Given the description of an element on the screen output the (x, y) to click on. 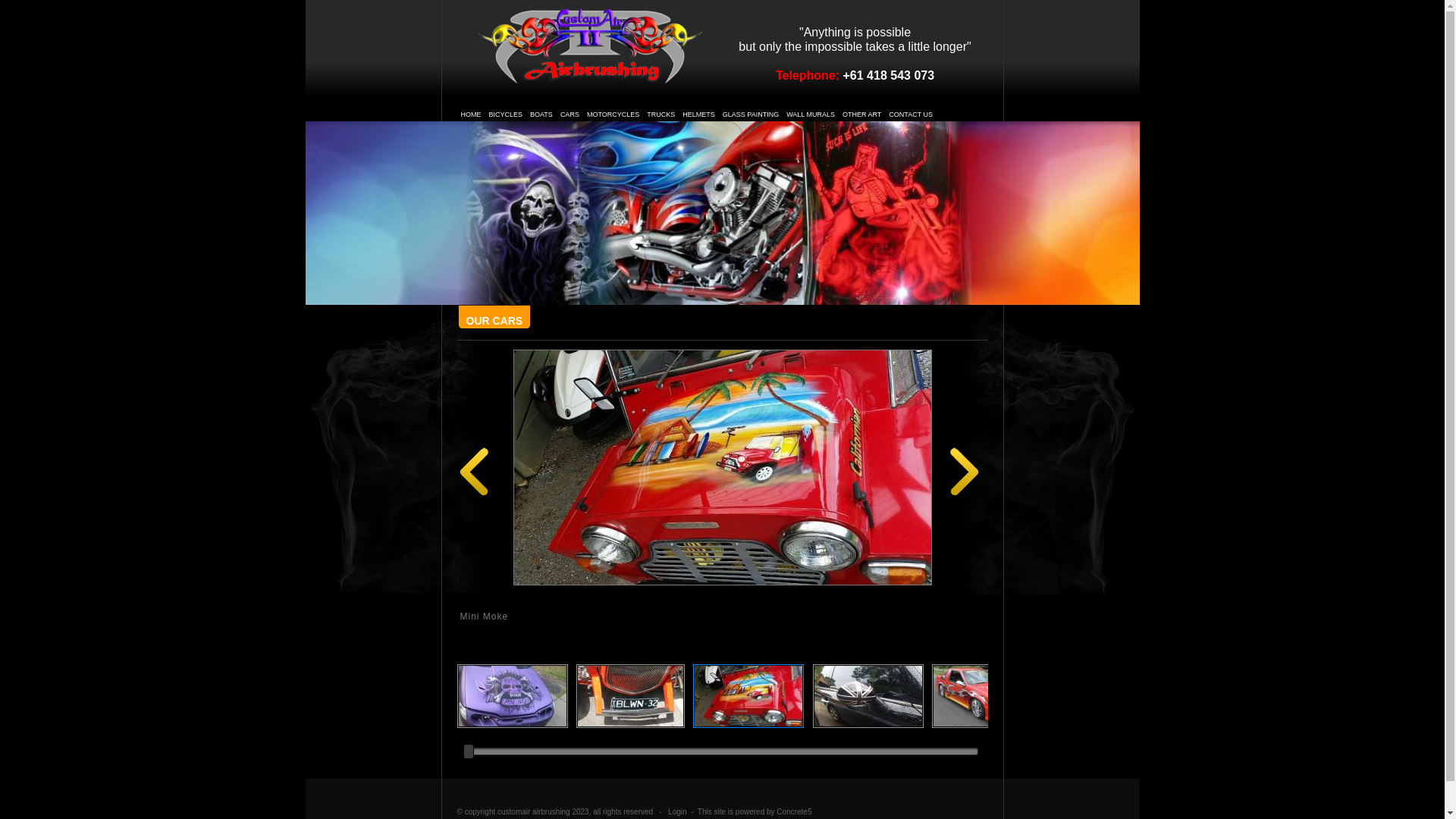
TRUCKS Element type: text (660, 114)
WALL MURALS Element type: text (810, 114)
  Login   Element type: text (677, 811)
HELMETS Element type: text (698, 114)
GLASS PAINTING Element type: text (750, 114)
Concrete5 Element type: text (793, 811)
CARS Element type: text (569, 114)
OTHER ART Element type: text (861, 114)
BOATS Element type: text (541, 114)
MOTORCYCLES Element type: text (612, 114)
HOME Element type: text (471, 114)
CONTACT US Element type: text (910, 114)
BICYCLES Element type: text (505, 114)
